Given the description of an element on the screen output the (x, y) to click on. 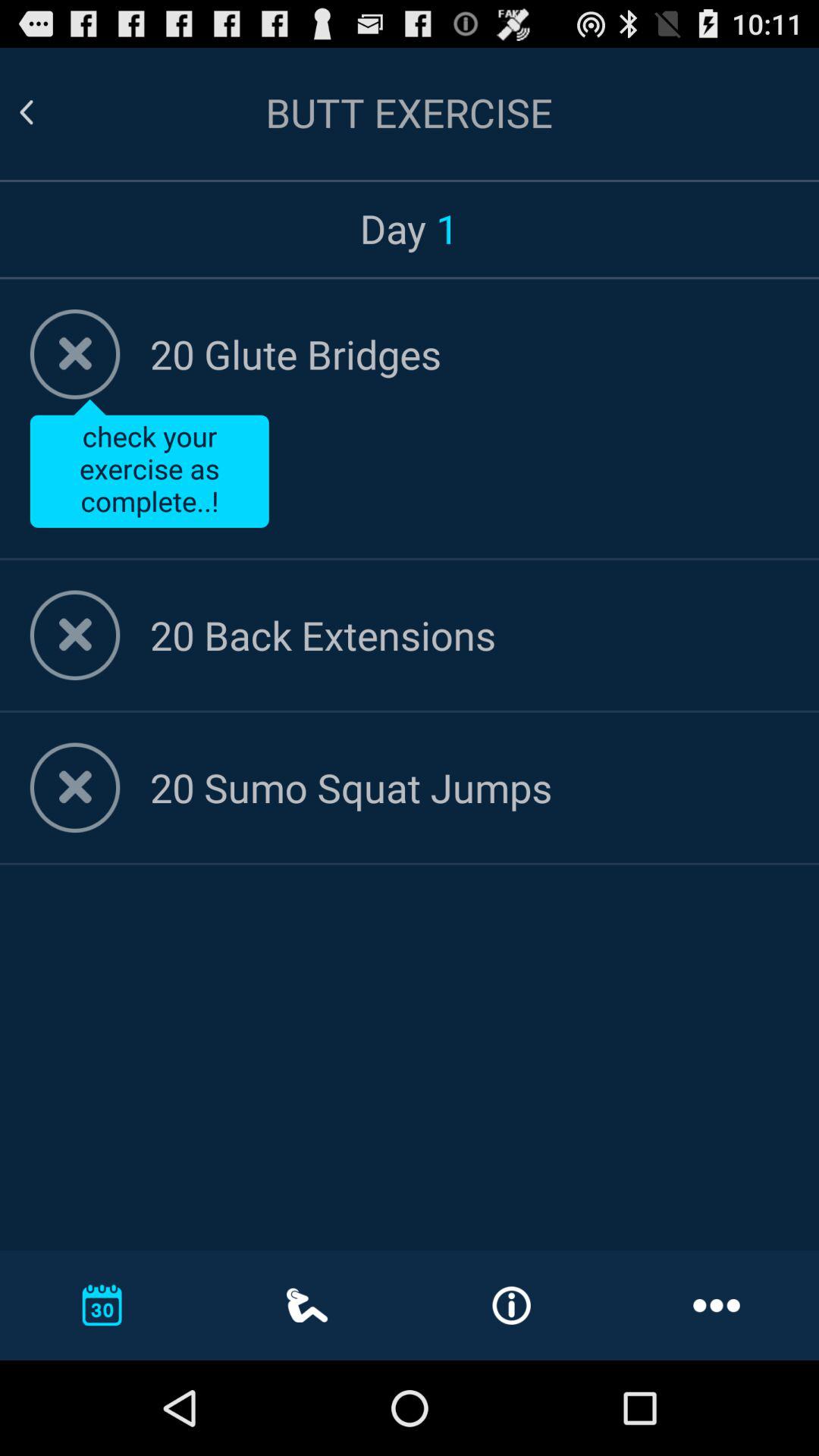
check exercise complete (75, 635)
